Given the description of an element on the screen output the (x, y) to click on. 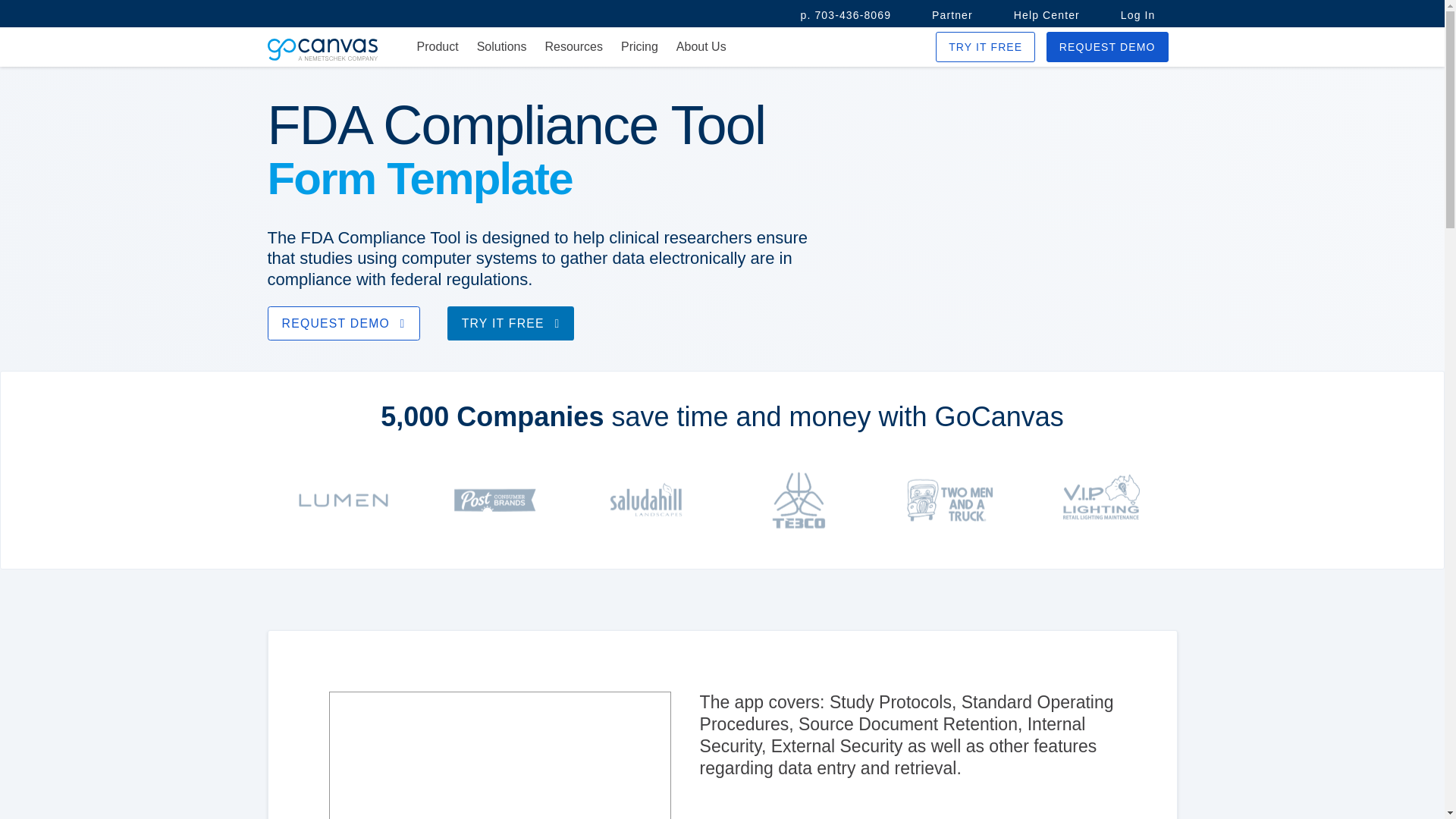
REQUEST DEMO (342, 323)
Partner (951, 15)
Help Center (1047, 15)
TRY IT FREE (985, 46)
p. 703-436-8069 (845, 15)
Log In (1138, 15)
Pricing (639, 46)
REQUEST DEMO (1107, 46)
About Us (701, 46)
TRY IT FREE (510, 323)
